Given the description of an element on the screen output the (x, y) to click on. 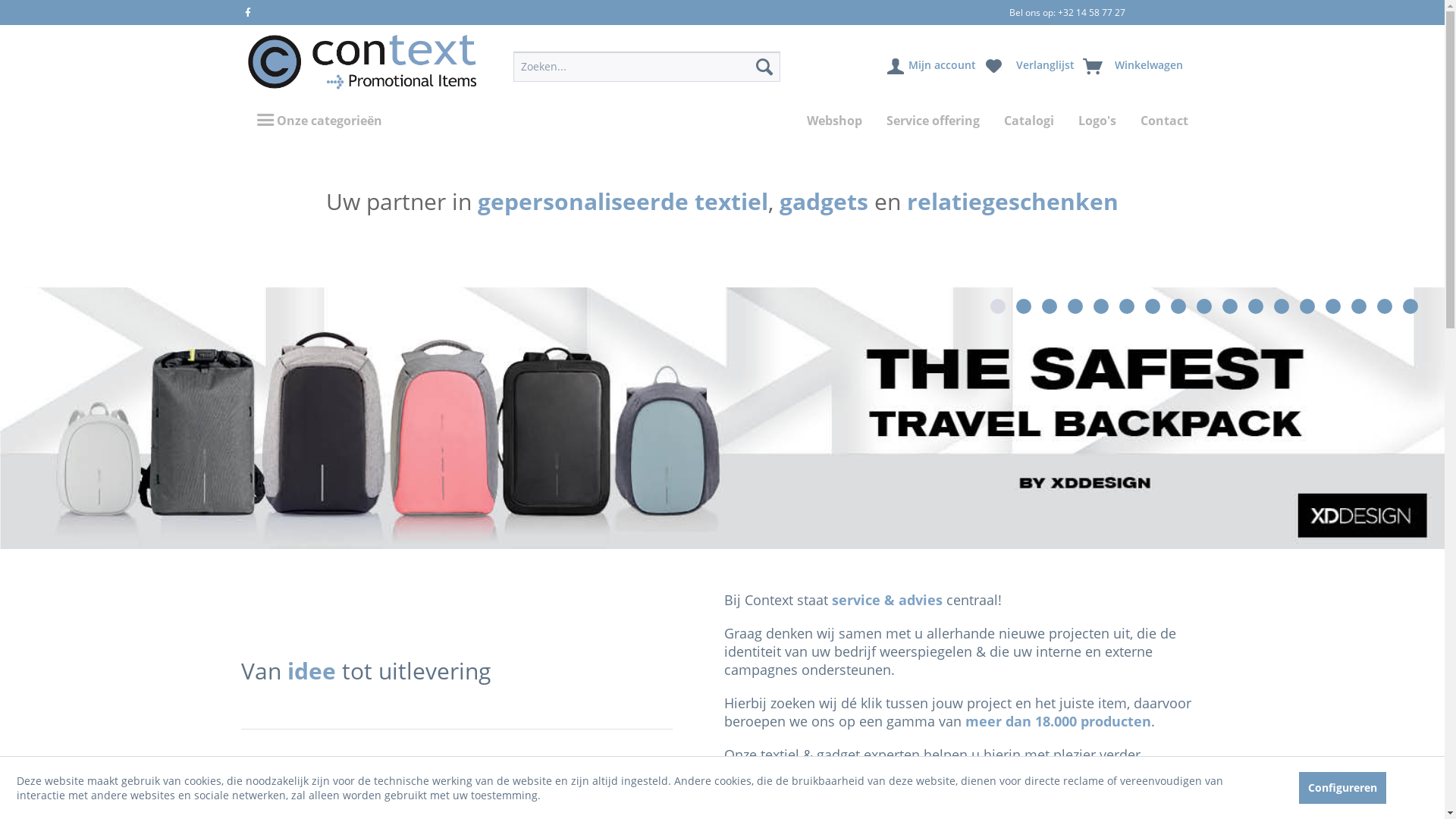
Logo's Element type: text (1097, 120)
Verlanglijst Element type: text (1030, 66)
Context-bvba - Naar de startpagina gaan Element type: hover (361, 61)
Mijn account Element type: text (932, 66)
Contact Element type: text (1164, 120)
Catalogi Element type: text (1028, 120)
Configureren Element type: text (1341, 787)
Winkelwagen Element type: text (1133, 66)
Service offering Element type: text (932, 120)
Webshop Element type: text (834, 120)
